Given the description of an element on the screen output the (x, y) to click on. 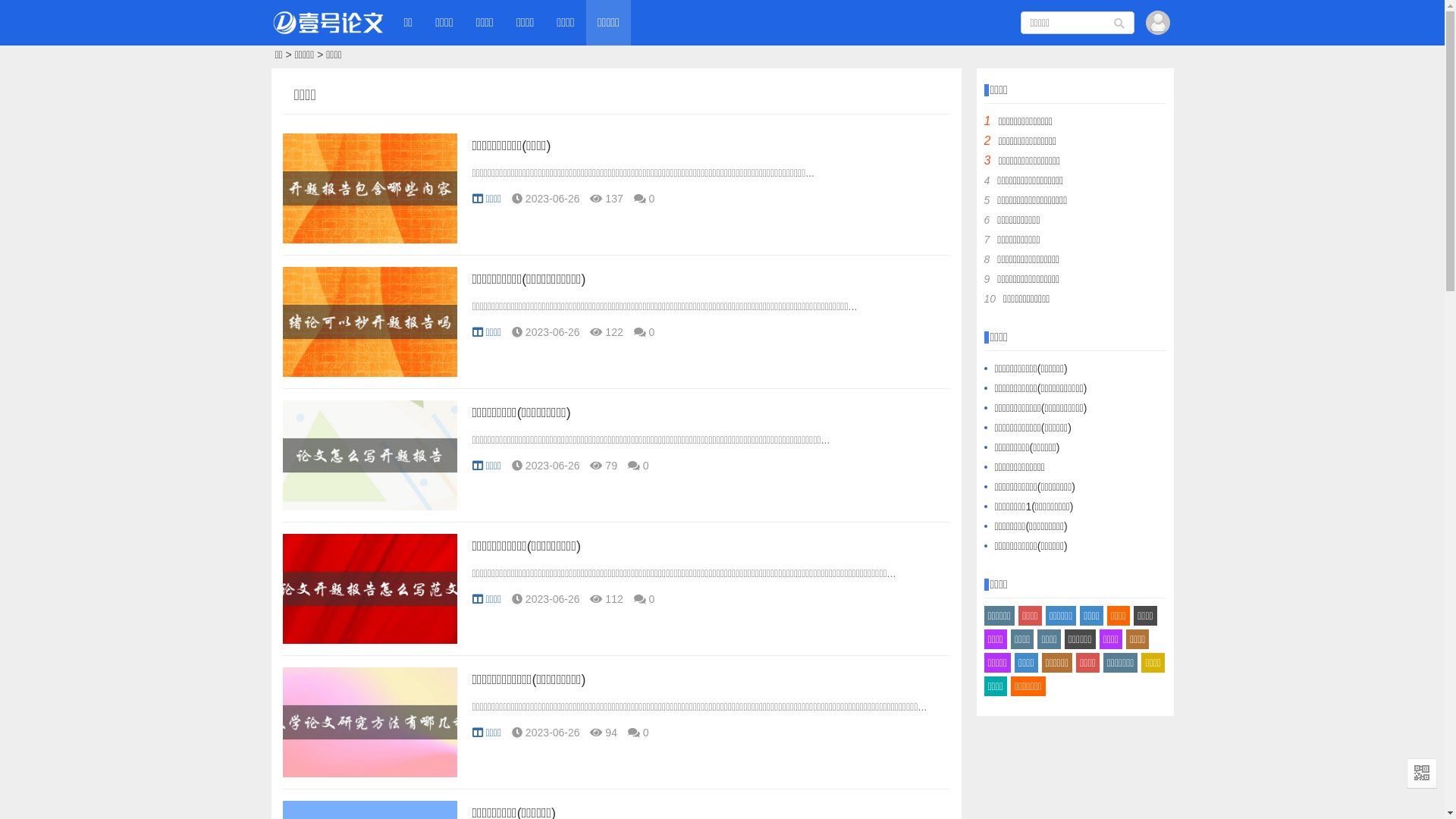
QR Code Element type: hover (1421, 773)
